Given the description of an element on the screen output the (x, y) to click on. 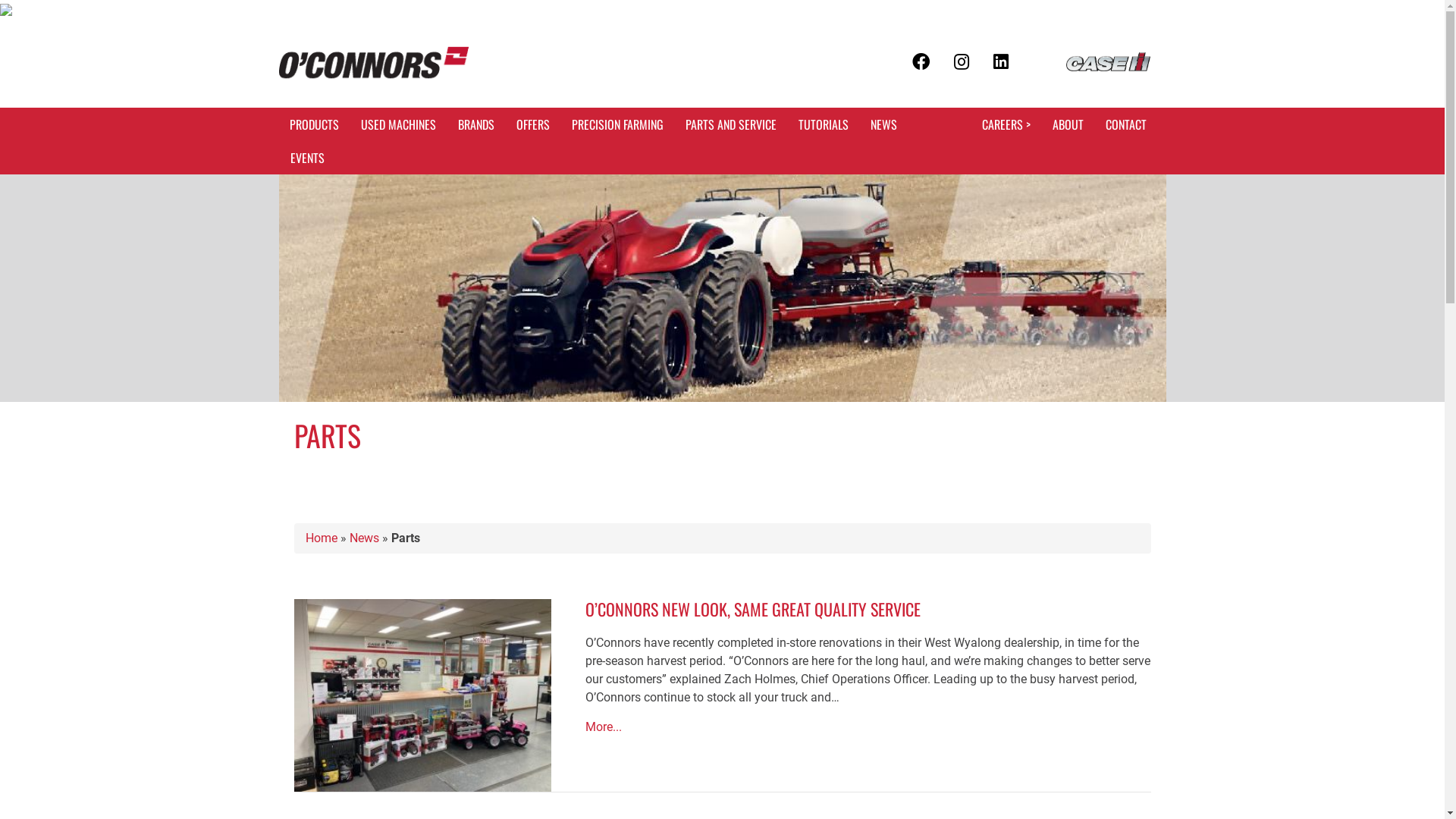
News Element type: text (363, 537)
CONTACT Element type: text (1126, 124)
USED MACHINES Element type: text (398, 124)
Home Element type: text (320, 537)
End+Frame+Logo Element type: hover (1108, 61)
OFFERS Element type: text (532, 124)
PRODUCTS Element type: text (314, 124)
NEWS Element type: text (883, 124)
BRANDS Element type: text (476, 124)
More... Element type: text (603, 727)
oconnors-logo-website Element type: hover (373, 62)
ABOUT Element type: text (1067, 124)
PARTS AND SERVICE Element type: text (730, 124)
PRECISION FARMING Element type: text (617, 124)
CAREERS > Element type: text (1006, 124)
TUTORIALS Element type: text (822, 124)
EVENTS Element type: text (306, 157)
